Given the description of an element on the screen output the (x, y) to click on. 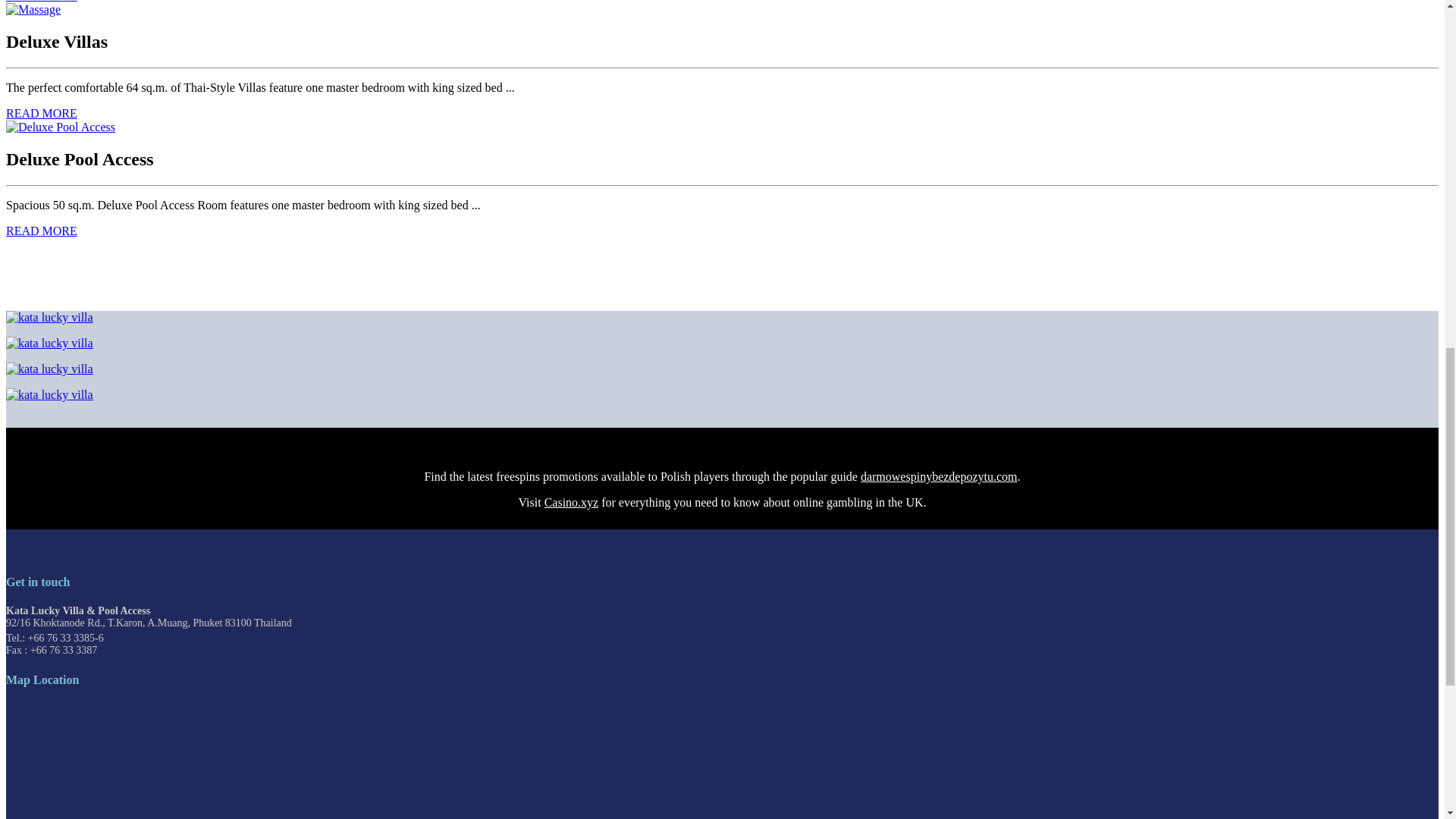
READ MORE (41, 230)
READ MORE (41, 113)
Casino.xyz (571, 502)
darmowespinybezdepozytu.com (938, 476)
READ MORE (41, 1)
